Given the description of an element on the screen output the (x, y) to click on. 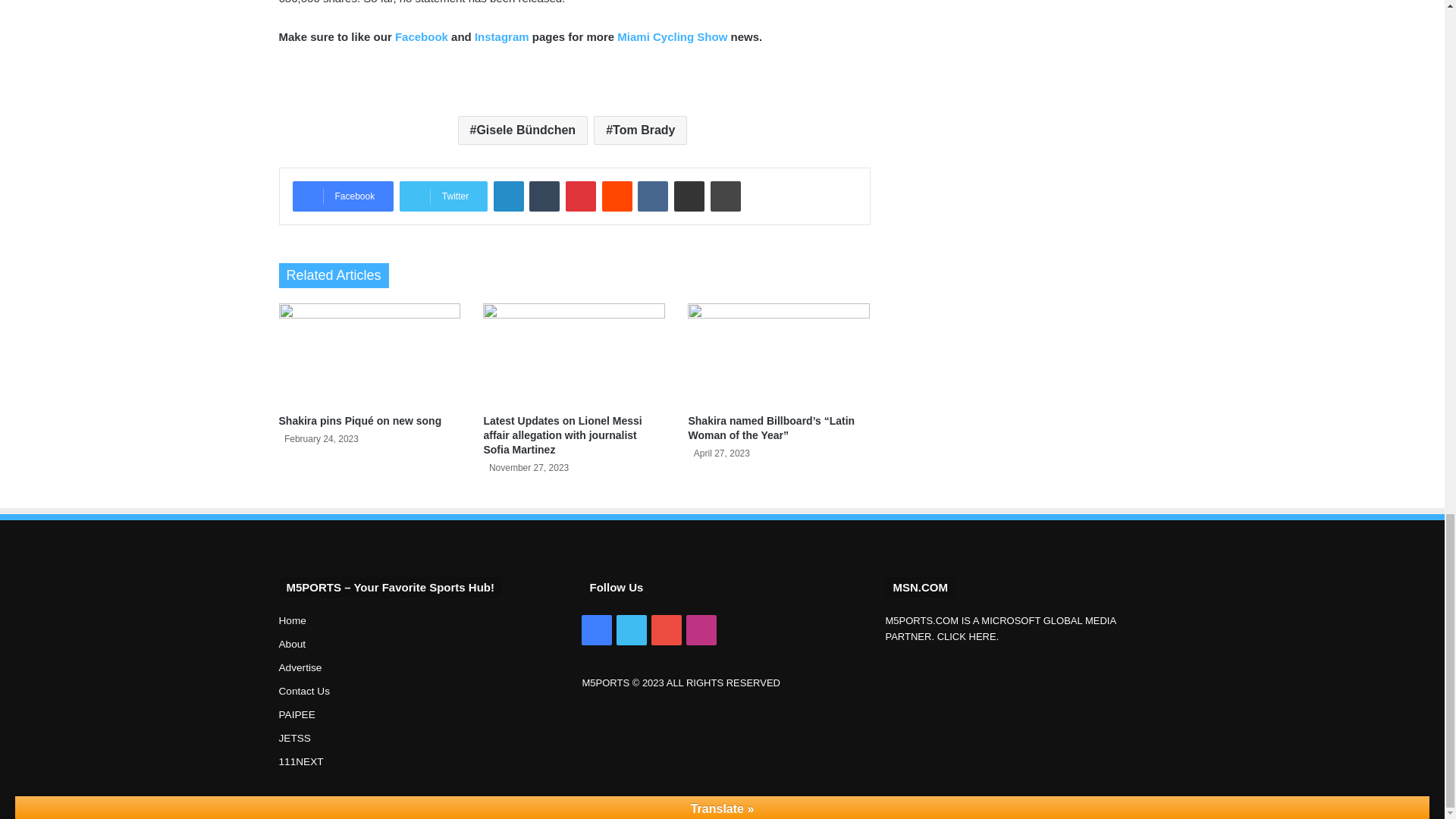
Share via Email (689, 195)
VKontakte (652, 195)
Twitter (442, 195)
Facebook (343, 195)
LinkedIn (508, 195)
Pinterest (580, 195)
Tumblr (544, 195)
Reddit (616, 195)
